Given the description of an element on the screen output the (x, y) to click on. 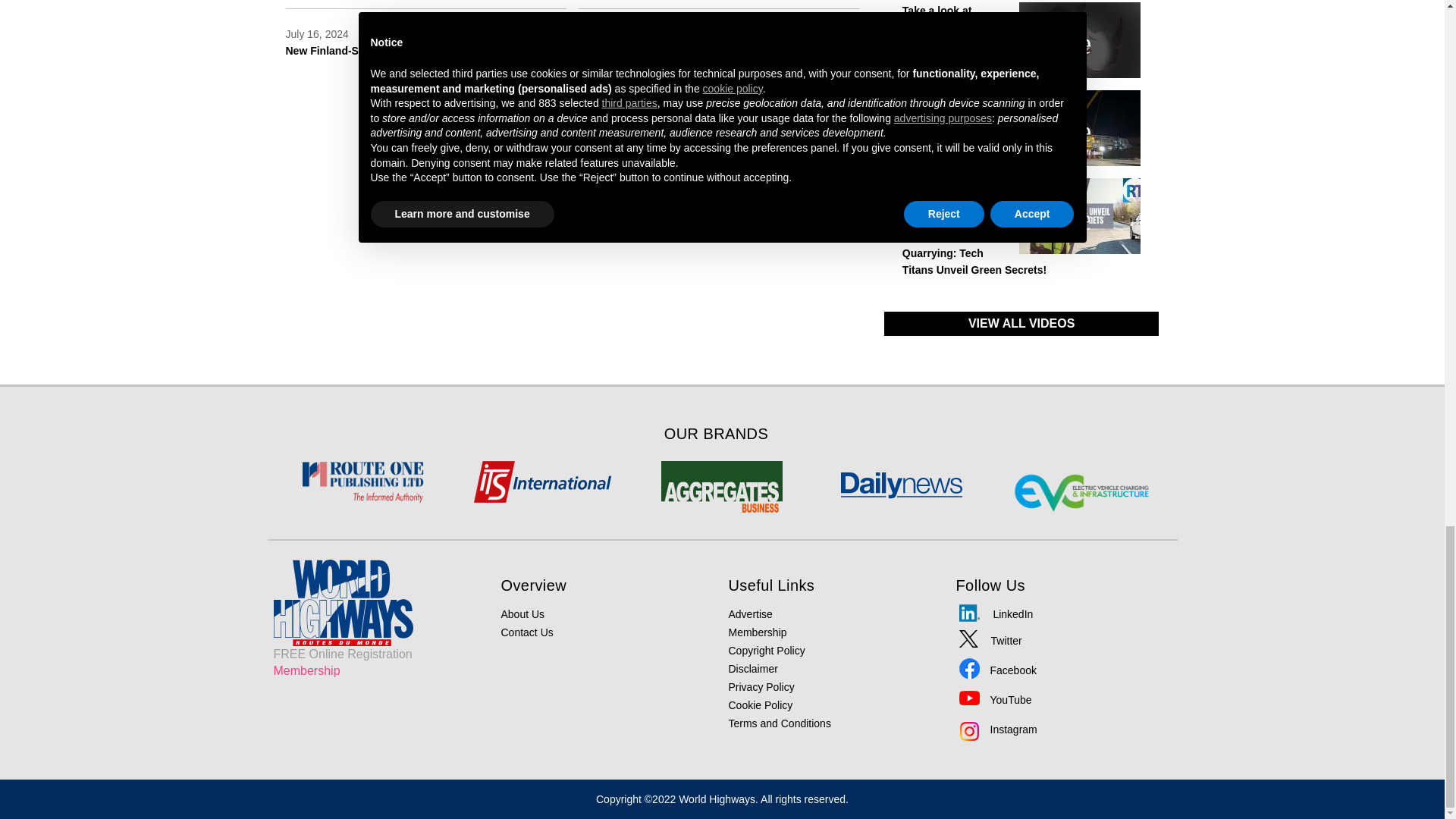
Privacy Policy  (760, 686)
Terms and Conditions  (778, 723)
Cookie Policy  (760, 705)
